Given the description of an element on the screen output the (x, y) to click on. 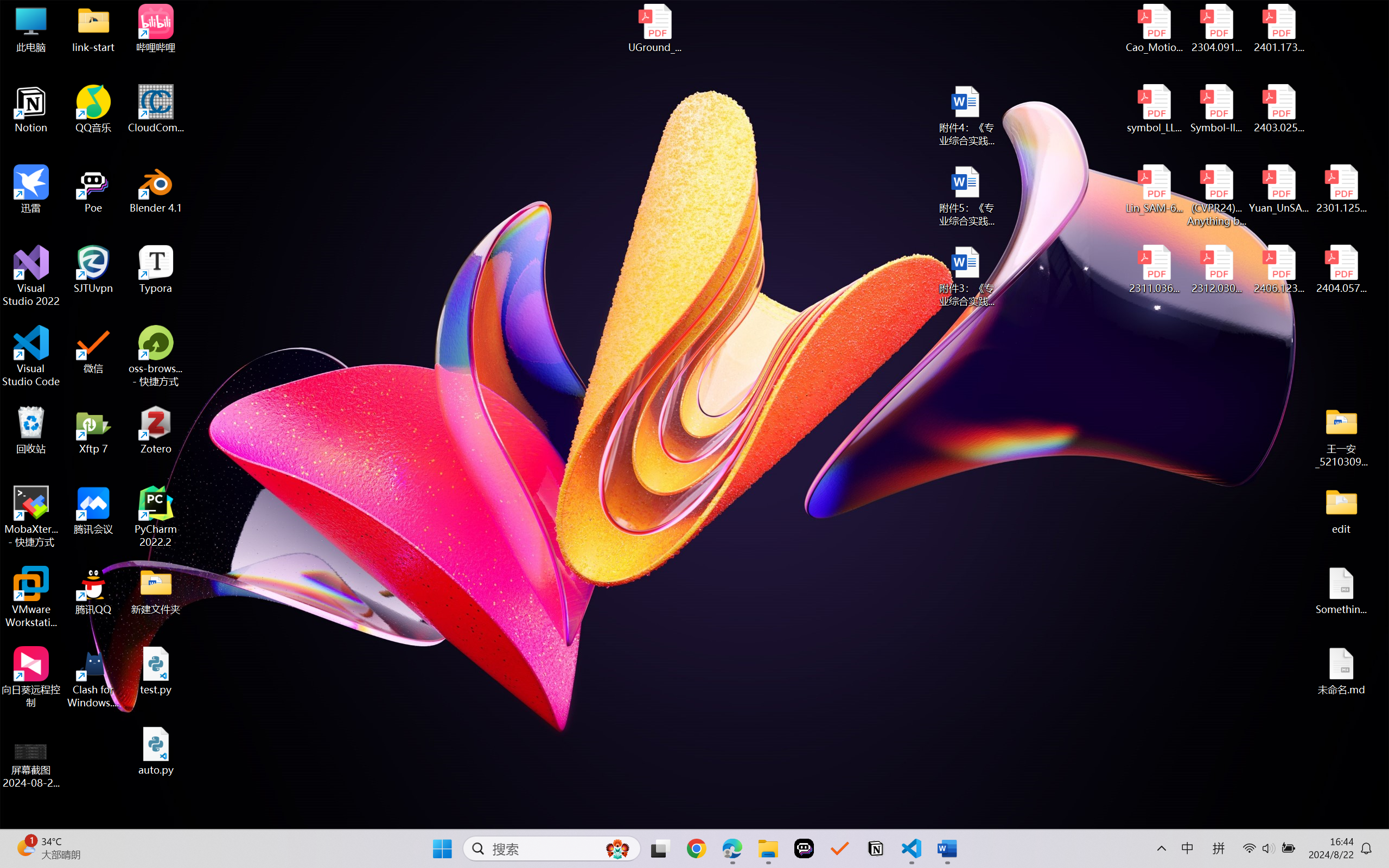
2312.03032v2.pdf (1216, 269)
VMware Workstation Pro (31, 597)
UGround_paper.pdf (654, 28)
